Given the description of an element on the screen output the (x, y) to click on. 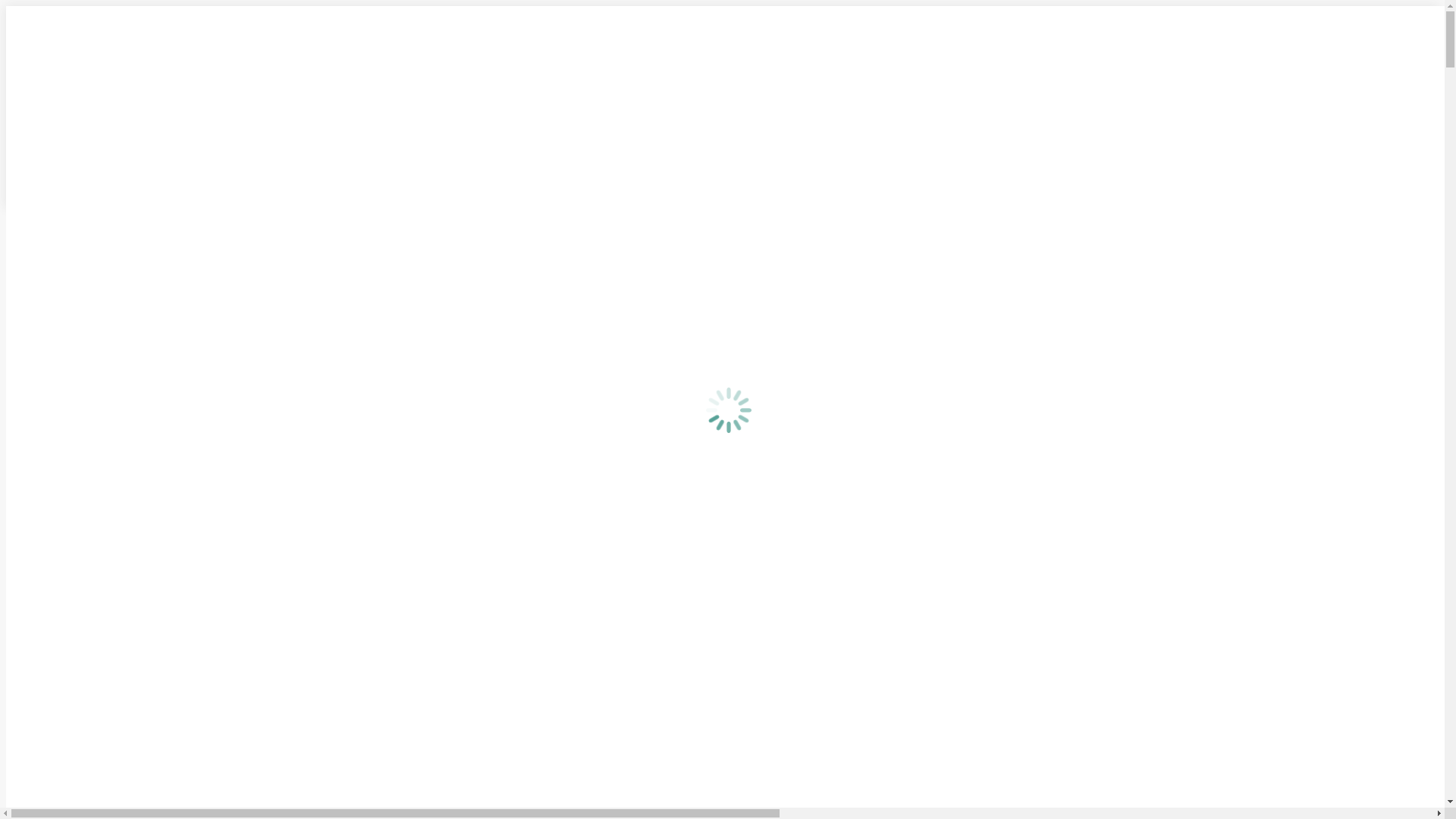
Custom Homes Element type: text (1286, 69)
Skip to content Element type: text (5, 5)
Home Element type: text (908, 69)
Commercial Element type: text (1369, 69)
House & Land Element type: text (1199, 69)
About us Element type: text (1016, 69)
Projects Element type: text (1129, 69)
Our Team Element type: text (970, 110)
Contact Element type: text (1372, 170)
Partners Element type: text (966, 129)
